Given the description of an element on the screen output the (x, y) to click on. 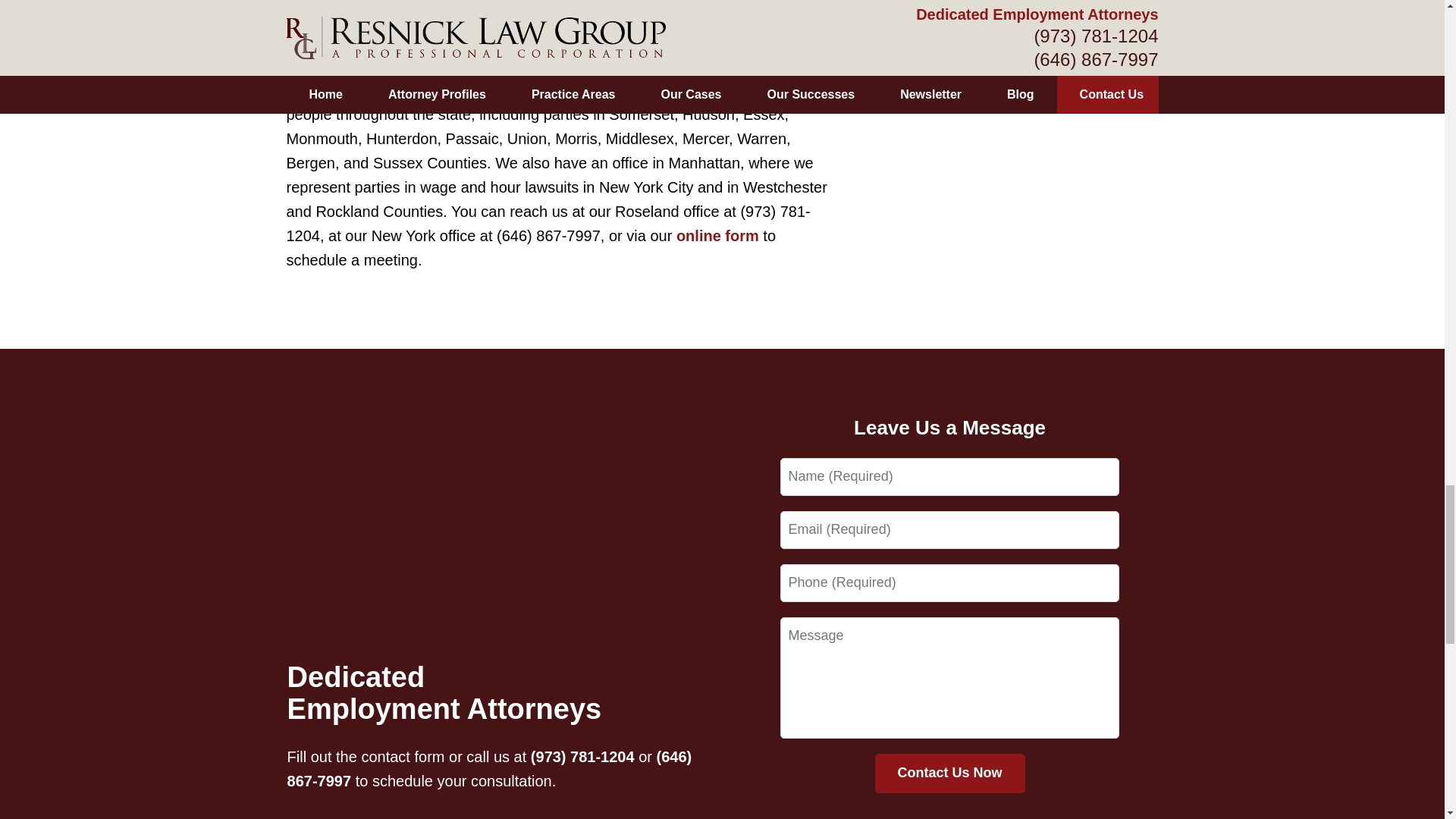
online form (717, 235)
